Given the description of an element on the screen output the (x, y) to click on. 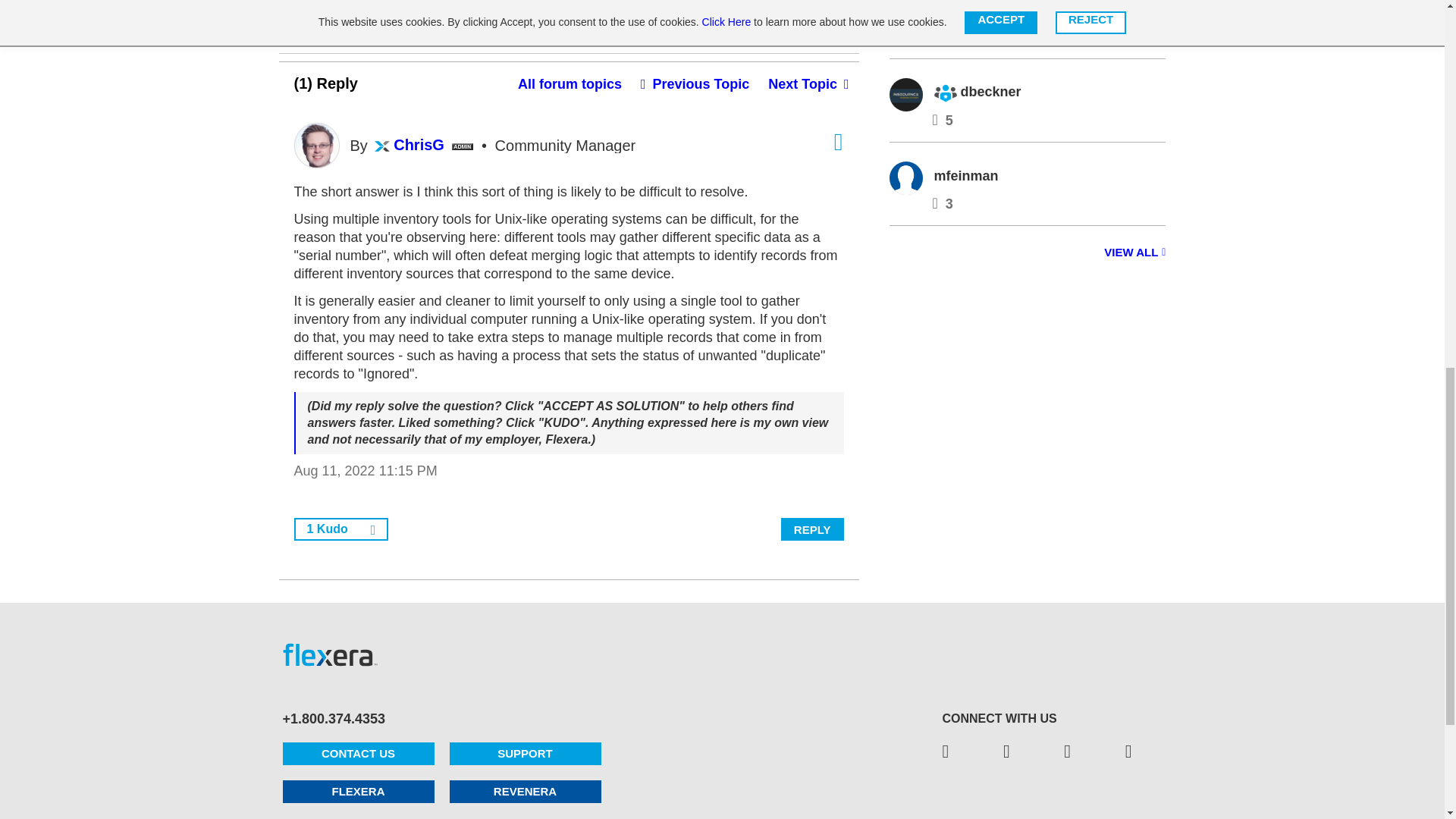
The total number of kudos this post has received. (330, 7)
